Given the description of an element on the screen output the (x, y) to click on. 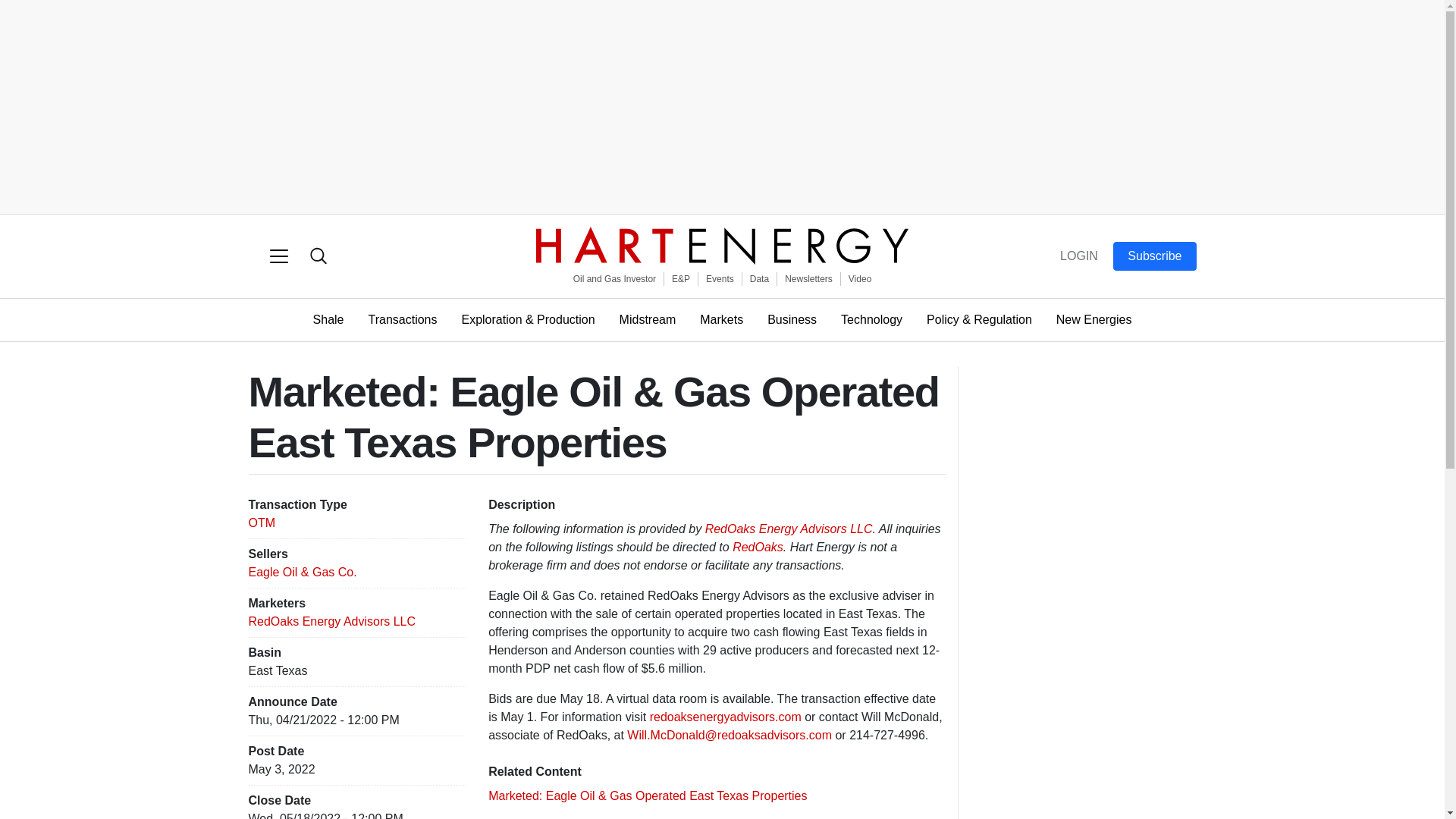
Search Our Site (317, 256)
Hart Energy (722, 245)
